Given the description of an element on the screen output the (x, y) to click on. 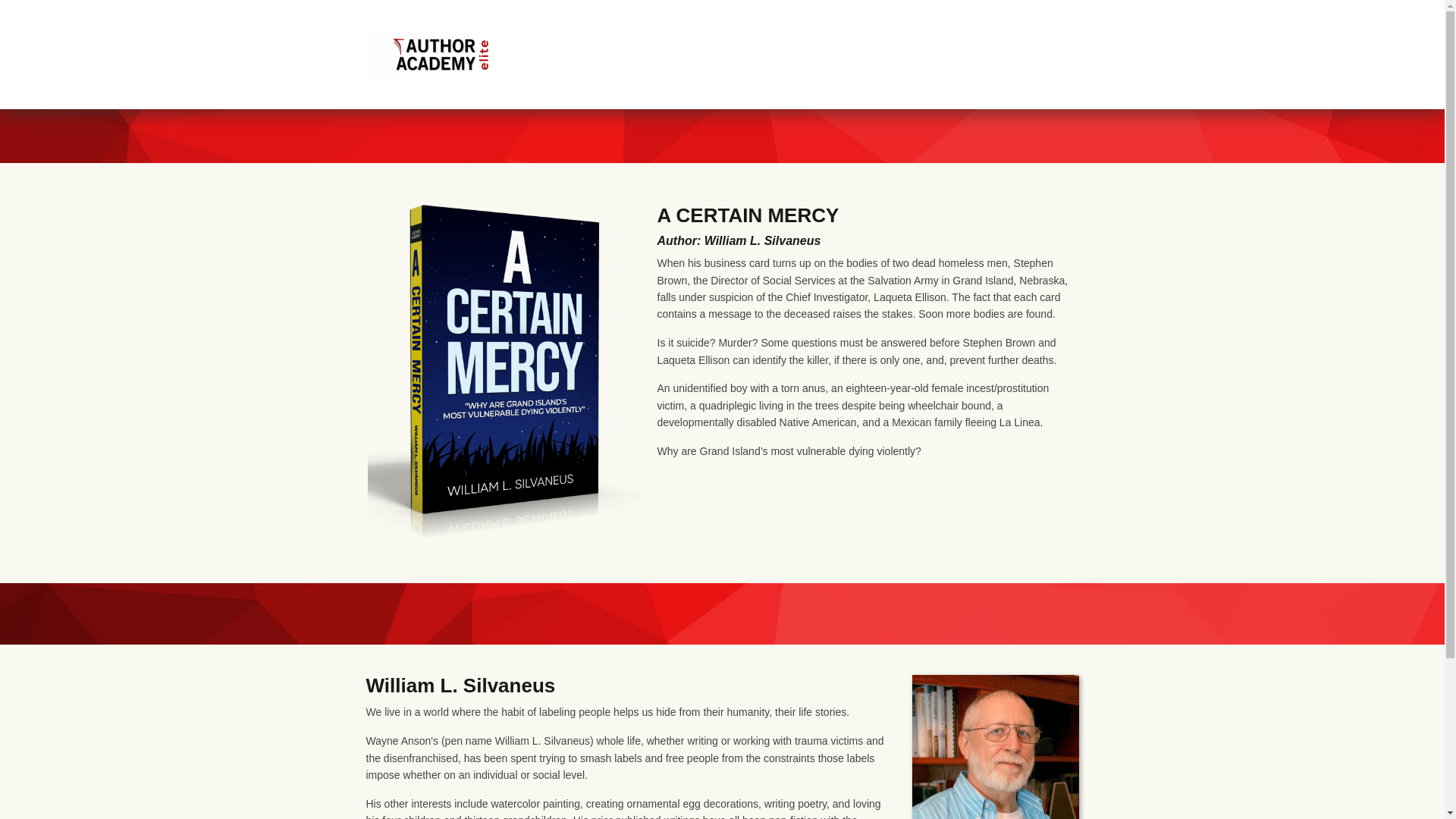
Author Academy Elite (440, 52)
